Given the description of an element on the screen output the (x, y) to click on. 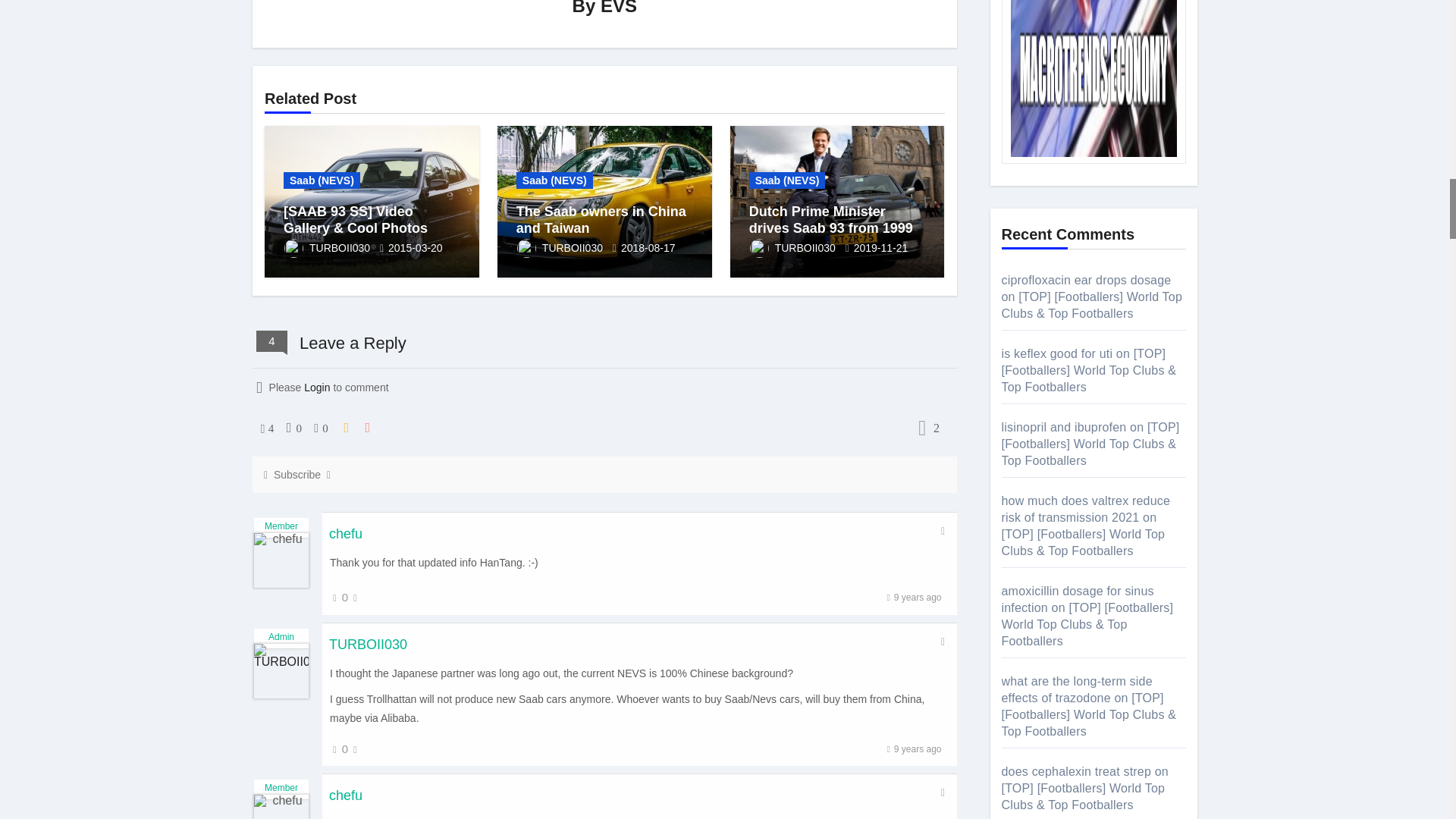
2015-03-20 (415, 246)
The Saab owners in China and Taiwan (600, 219)
Permalink to: Dutch Prime Minister drives Saab 93 from 1999 (830, 219)
TURBOII030 (327, 246)
Permalink to: The Saab owners in China and Taiwan (600, 219)
EVS (618, 7)
